Given the description of an element on the screen output the (x, y) to click on. 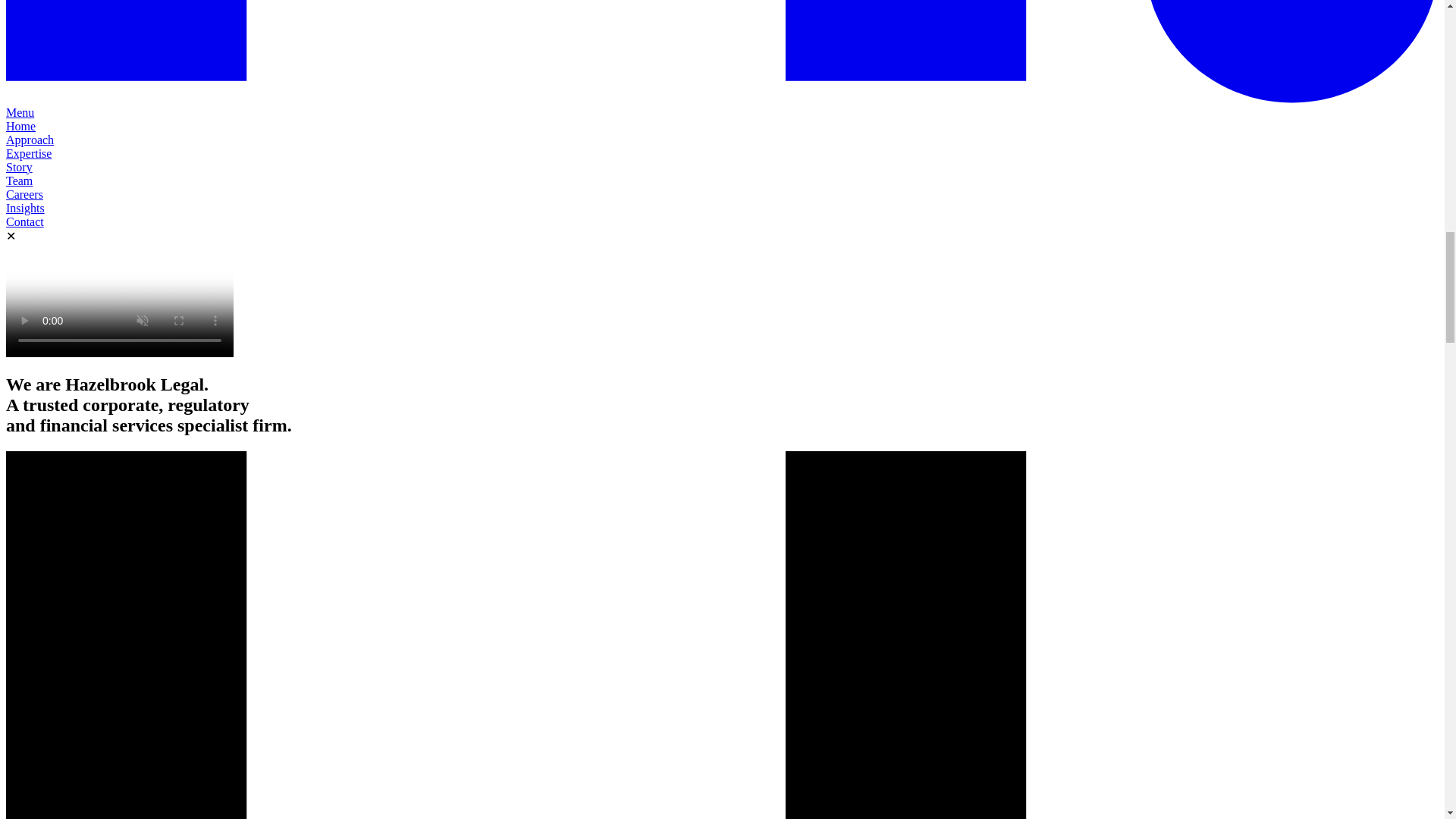
Expertise (27, 153)
Home (19, 125)
Careers (24, 194)
Approach (29, 139)
Story (18, 166)
Insights (25, 207)
Menu (19, 112)
Team (18, 180)
Contact (24, 221)
